Given the description of an element on the screen output the (x, y) to click on. 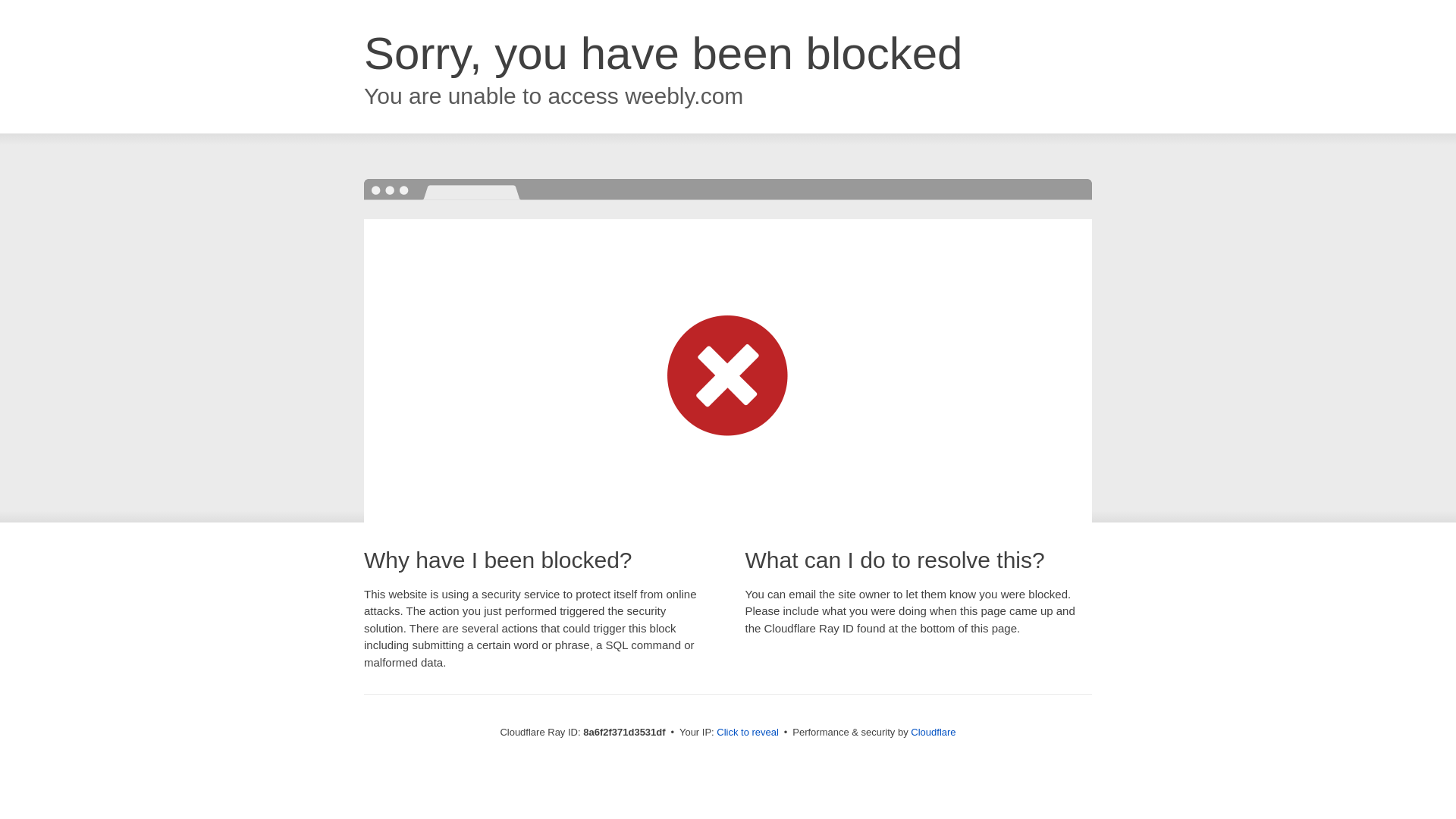
Cloudflare (933, 731)
Click to reveal (747, 732)
